Given the description of an element on the screen output the (x, y) to click on. 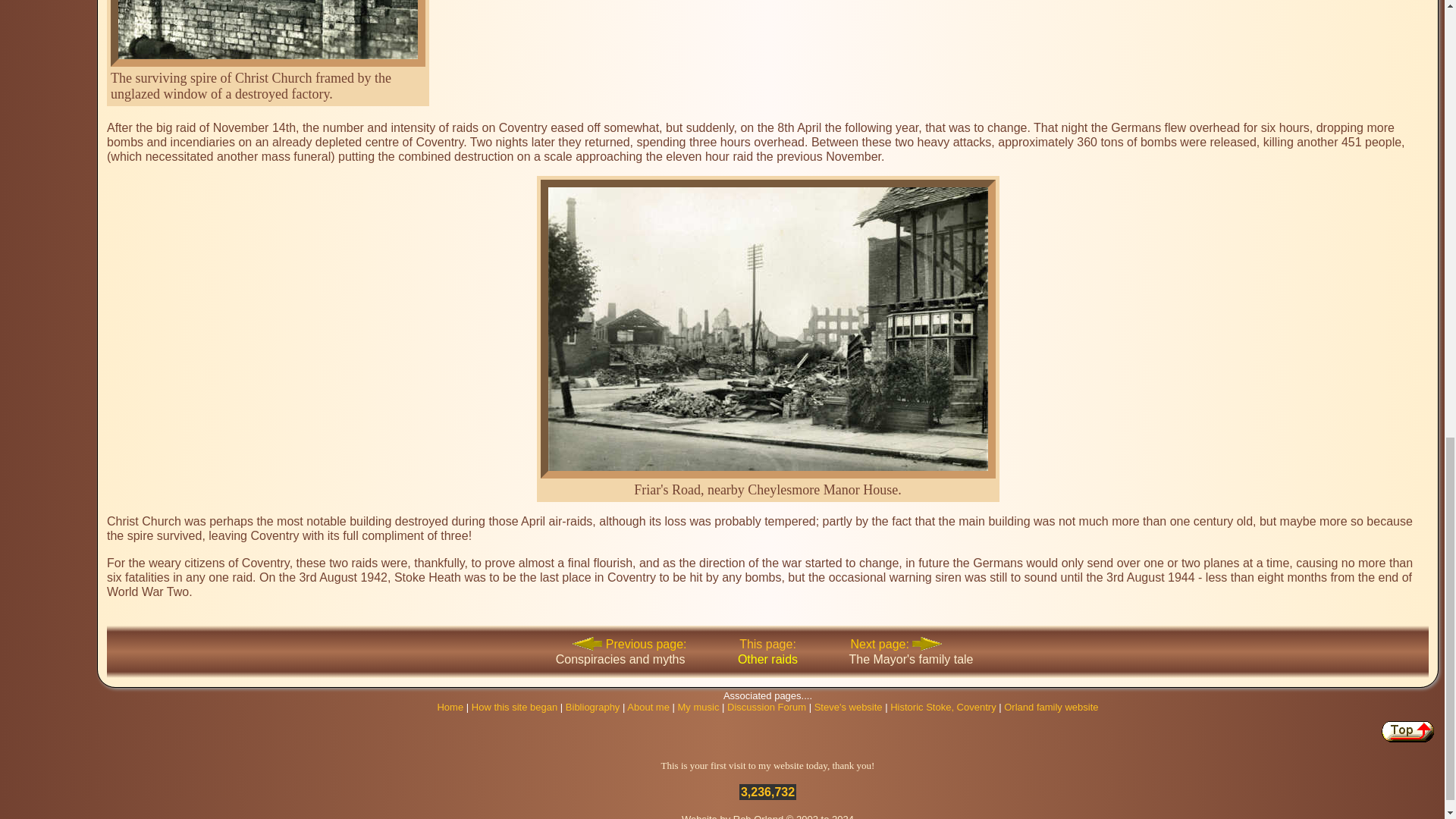
Top of the page (1407, 731)
